Given the description of an element on the screen output the (x, y) to click on. 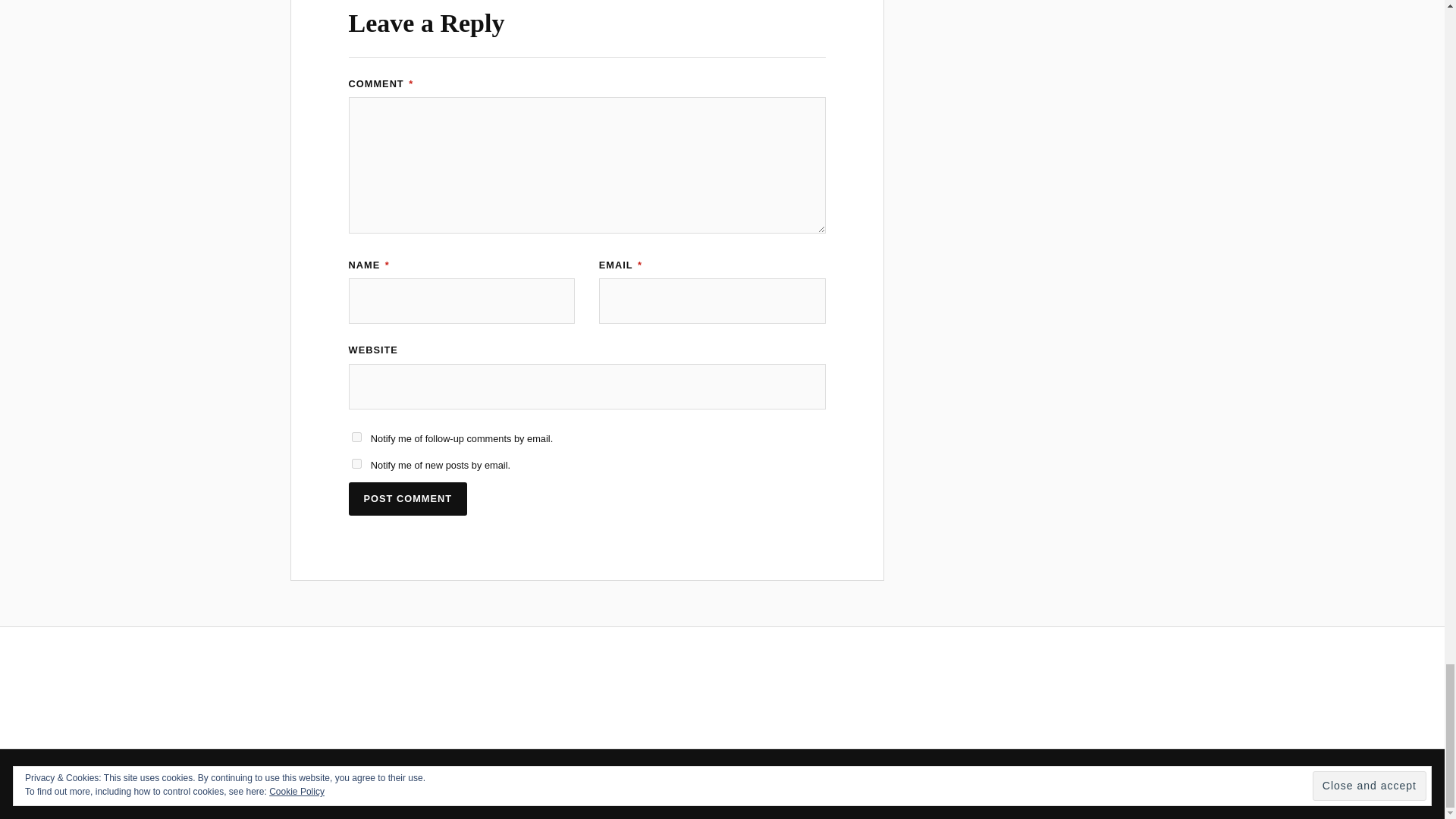
subscribe (356, 463)
Post Comment (408, 499)
WORDPRESS (676, 783)
Post Comment (408, 499)
subscribe (356, 437)
